Given the description of an element on the screen output the (x, y) to click on. 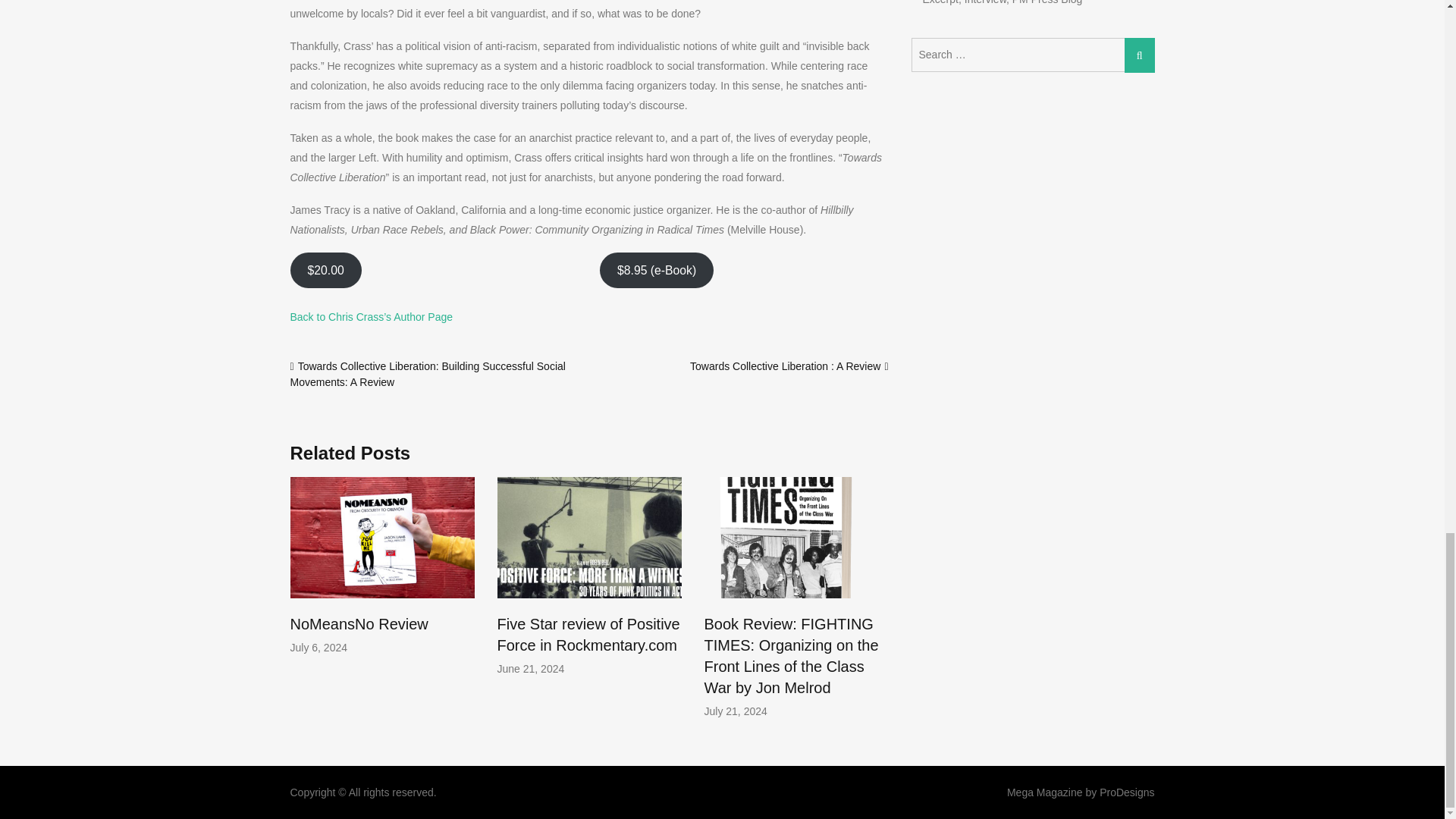
NoMeansNo Review (358, 623)
Towards Collective Liberation : A Review (785, 366)
Five Star review of Positive Force in Rockmentary.com (588, 634)
